Given the description of an element on the screen output the (x, y) to click on. 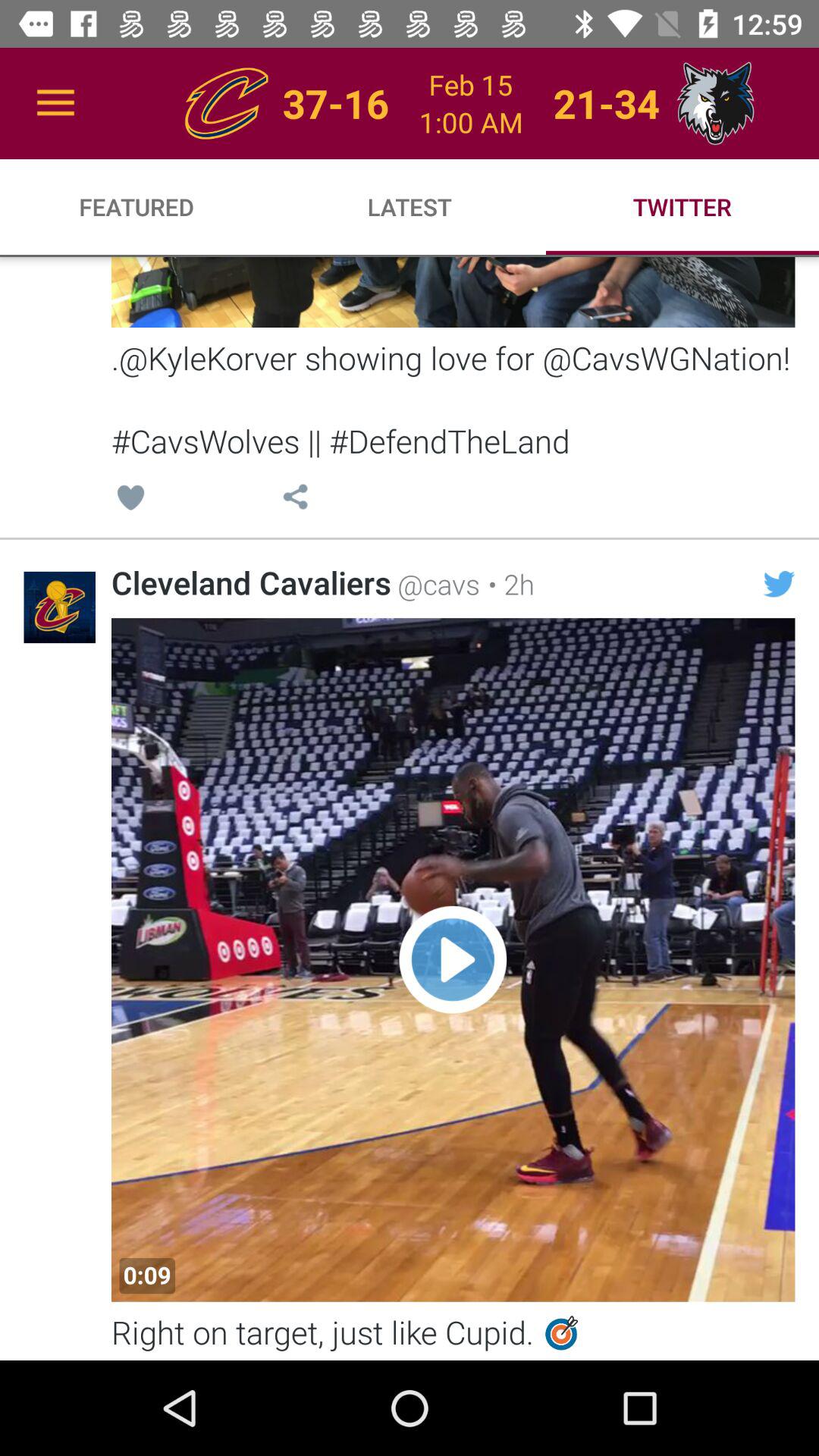
play video (453, 959)
